Given the description of an element on the screen output the (x, y) to click on. 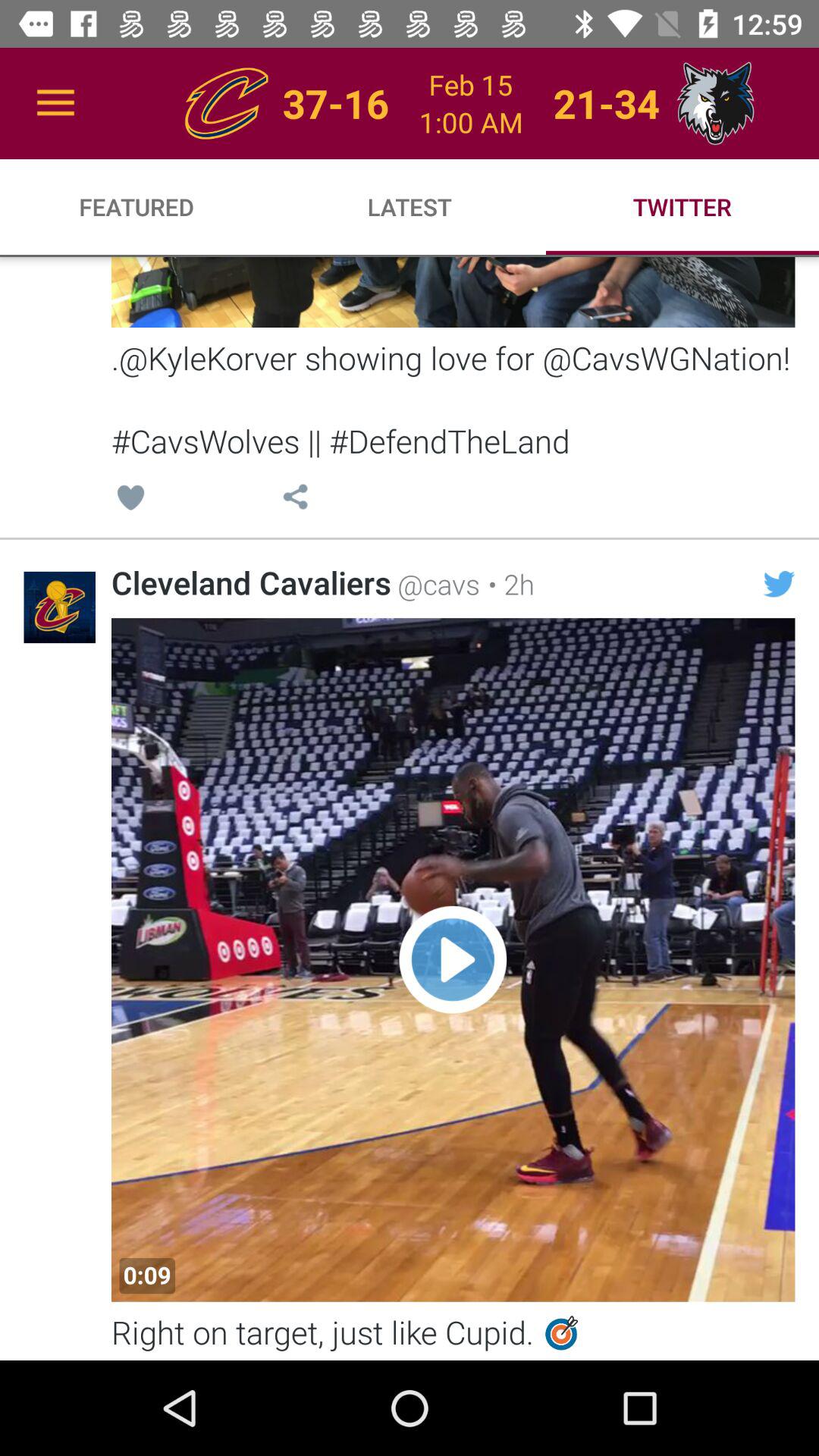
play video (453, 959)
